Given the description of an element on the screen output the (x, y) to click on. 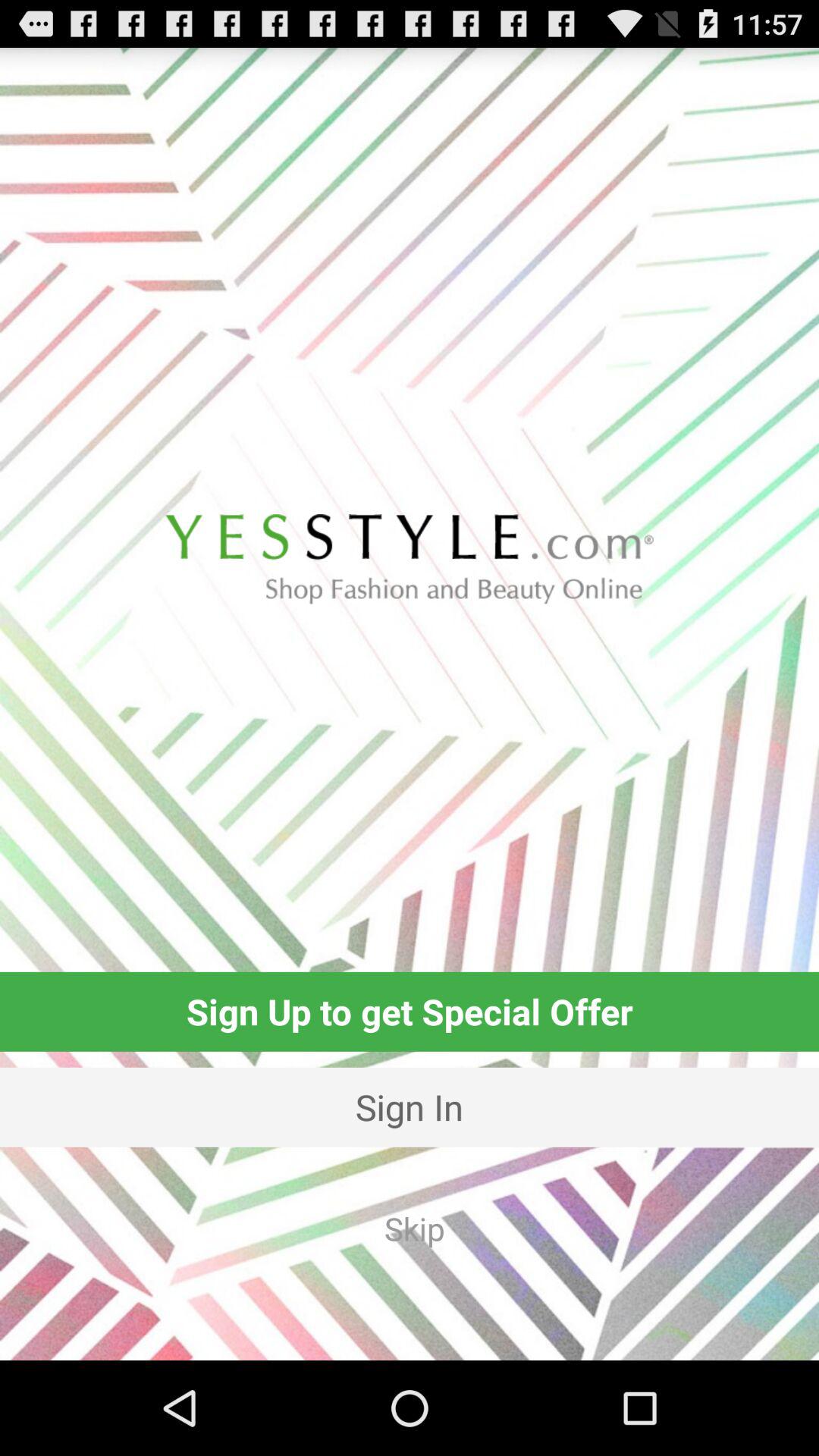
flip until skip item (414, 1228)
